Given the description of an element on the screen output the (x, y) to click on. 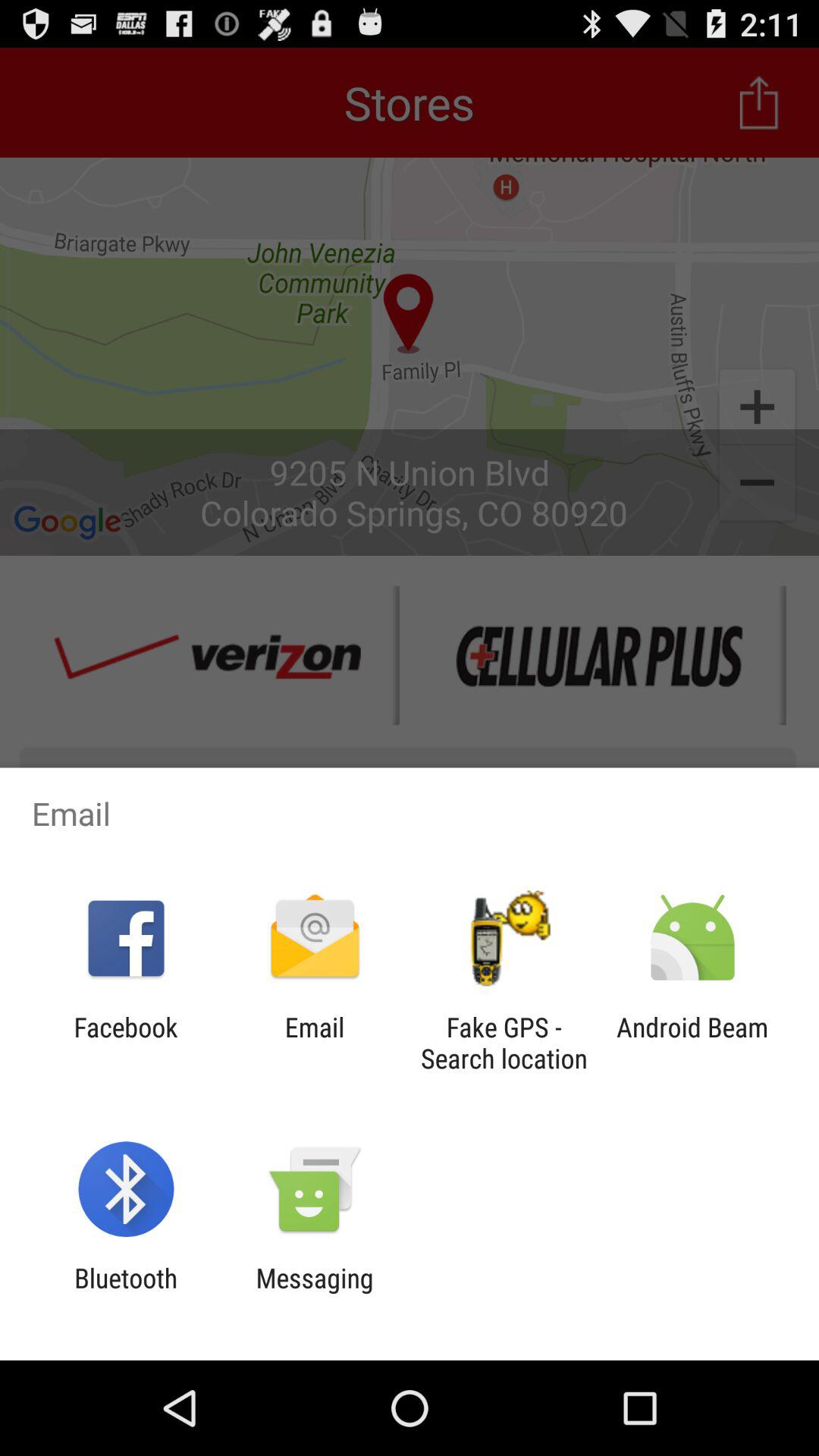
turn on bluetooth app (125, 1293)
